Given the description of an element on the screen output the (x, y) to click on. 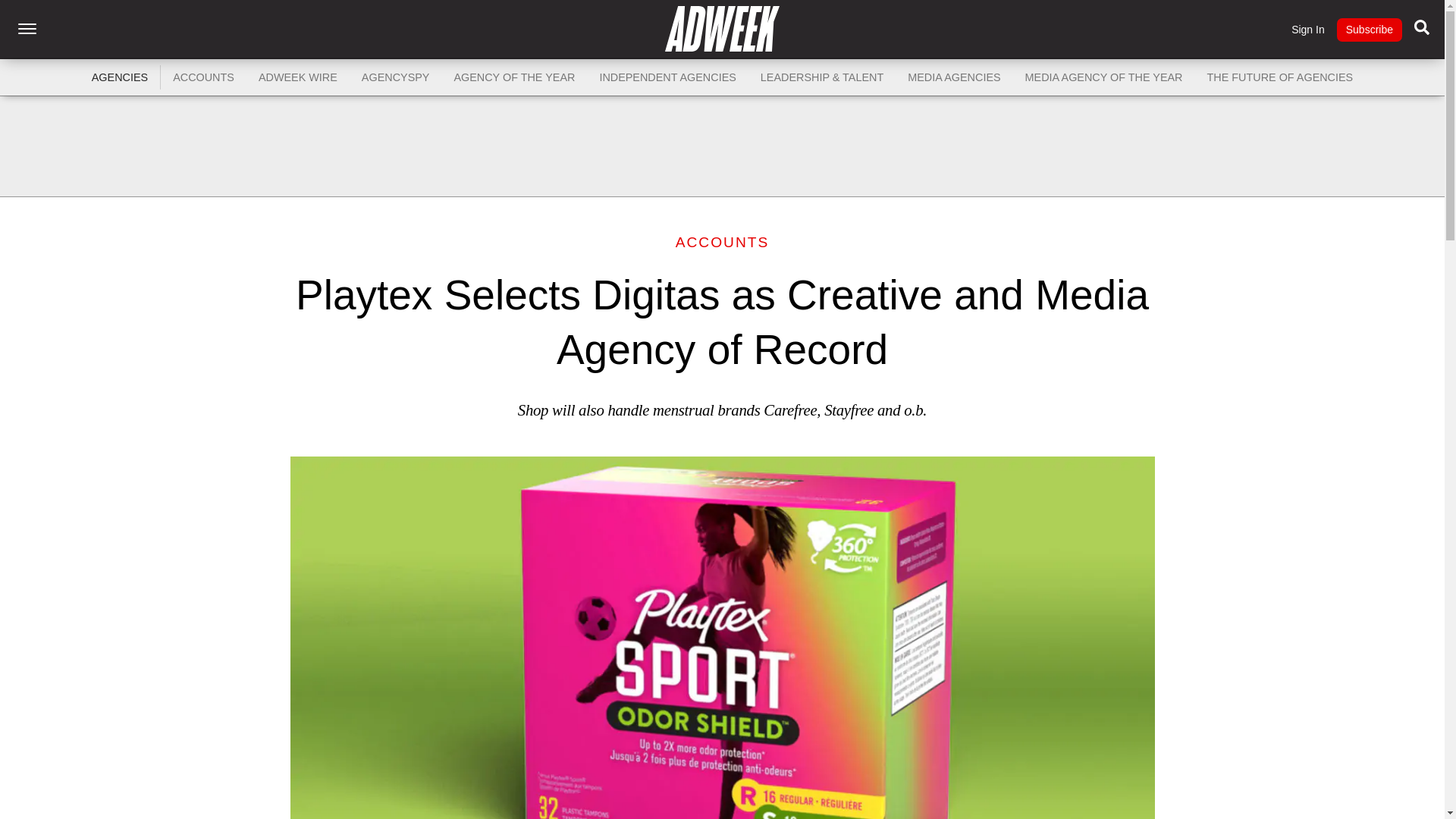
ADWEEK WIRE (297, 77)
Subscribe (1369, 29)
ACCOUNTS (203, 77)
MEDIA AGENCY OF THE YEAR (1104, 77)
INDEPENDENT AGENCIES (667, 77)
Toggle Main Menu (26, 28)
AGENCIES (120, 77)
Sign In (1307, 29)
THE FUTURE OF AGENCIES (1280, 77)
